Given the description of an element on the screen output the (x, y) to click on. 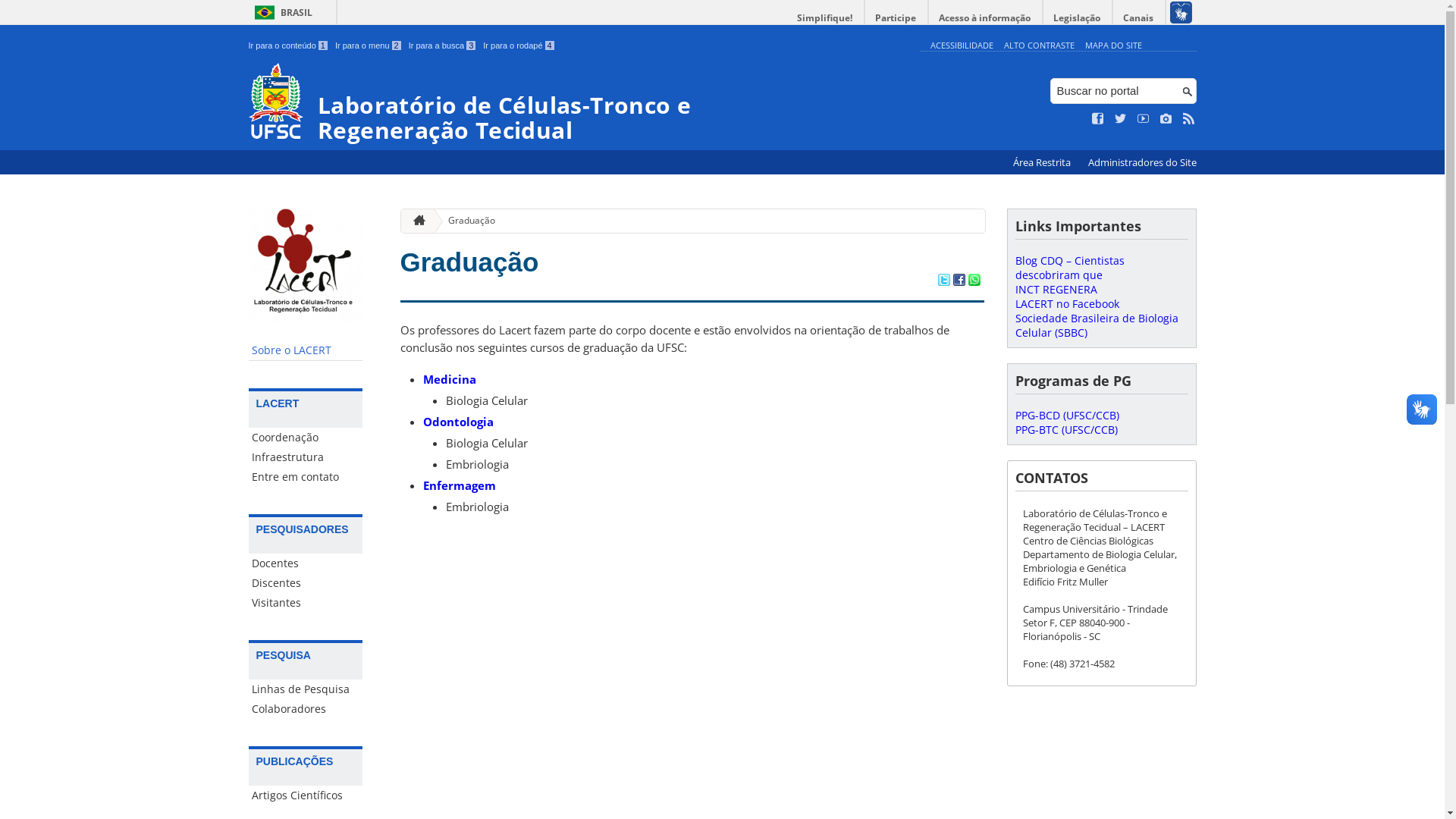
Colaboradores Element type: text (305, 708)
Sociedade Brasileira de Biologia Celular (SBBC) Element type: text (1095, 324)
Simplifique! Element type: text (825, 18)
Odontologia Element type: text (458, 421)
Veja no Instagram Element type: hover (1166, 118)
Visitantes Element type: text (305, 602)
BRASIL Element type: text (280, 12)
Compartilhar no Facebook Element type: hover (958, 280)
PPG-BTC (UFSC/CCB) Element type: text (1065, 429)
Administradores do Site Element type: text (1141, 162)
Canais Element type: text (1138, 18)
Medicina Element type: text (449, 378)
Sobre o LACERT Element type: text (305, 350)
Curta no Facebook Element type: hover (1098, 118)
Participe Element type: text (895, 18)
ACESSIBILIDADE Element type: text (960, 44)
LACERT no Facebook Element type: text (1066, 303)
Siga no Twitter Element type: hover (1120, 118)
Compartilhar no WhatsApp Element type: hover (973, 280)
Linhas de Pesquisa Element type: text (305, 689)
MAPA DO SITE Element type: text (1112, 44)
Docentes Element type: text (305, 563)
PPG-BCD (UFSC/CCB) Element type: text (1066, 414)
Enfermagem Element type: text (459, 484)
Ir para o menu 2 Element type: text (368, 45)
Infraestrutura Element type: text (305, 457)
Compartilhar no Twitter Element type: hover (943, 280)
Entre em contato Element type: text (305, 476)
INCT REGENERA Element type: text (1055, 289)
Discentes Element type: text (305, 583)
Ir para a busca 3 Element type: text (442, 45)
ALTO CONTRASTE Element type: text (1039, 44)
